Given the description of an element on the screen output the (x, y) to click on. 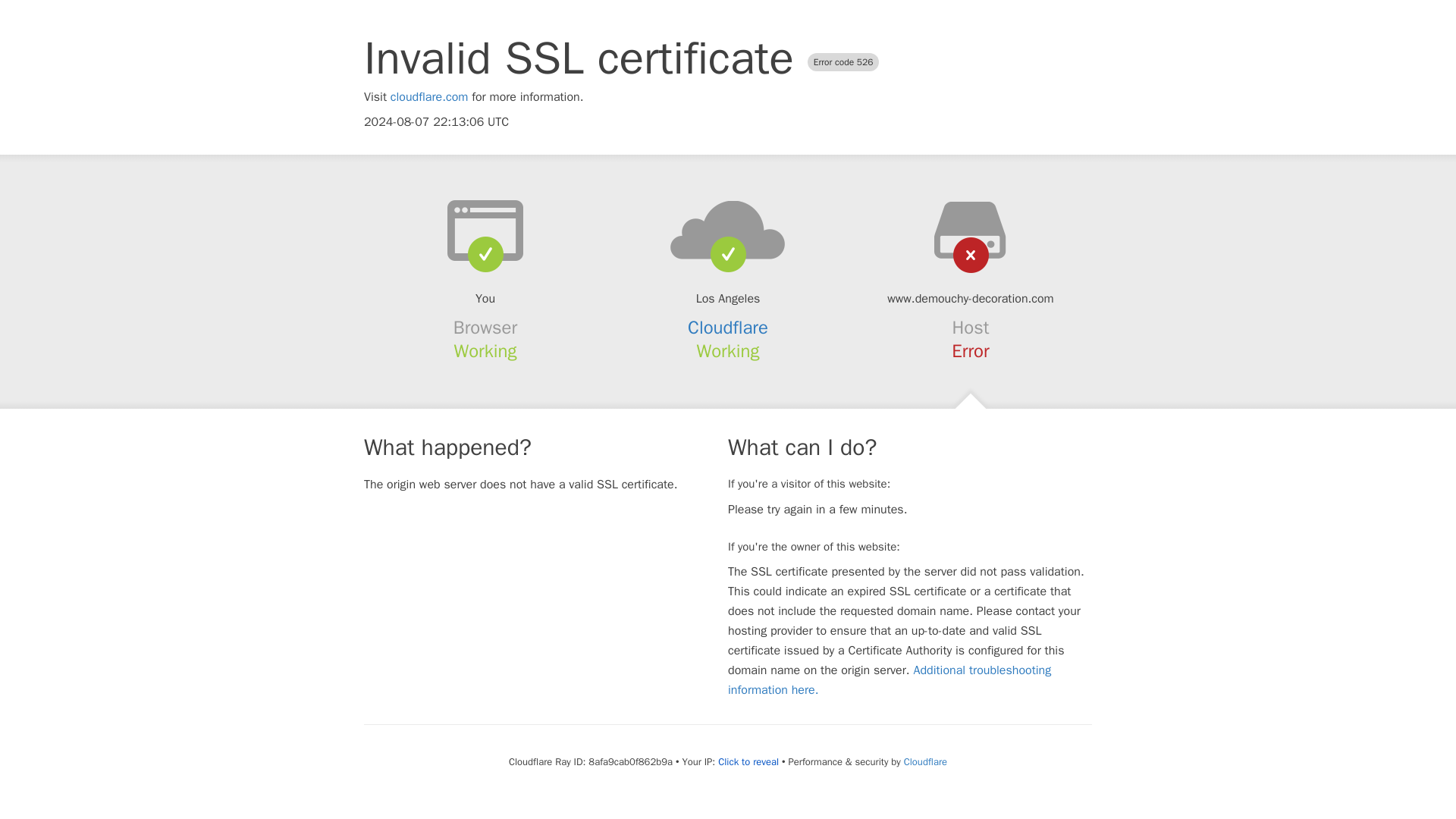
Additional troubleshooting information here. (889, 679)
Cloudflare (925, 761)
Click to reveal (747, 762)
cloudflare.com (429, 96)
Cloudflare (727, 327)
